Given the description of an element on the screen output the (x, y) to click on. 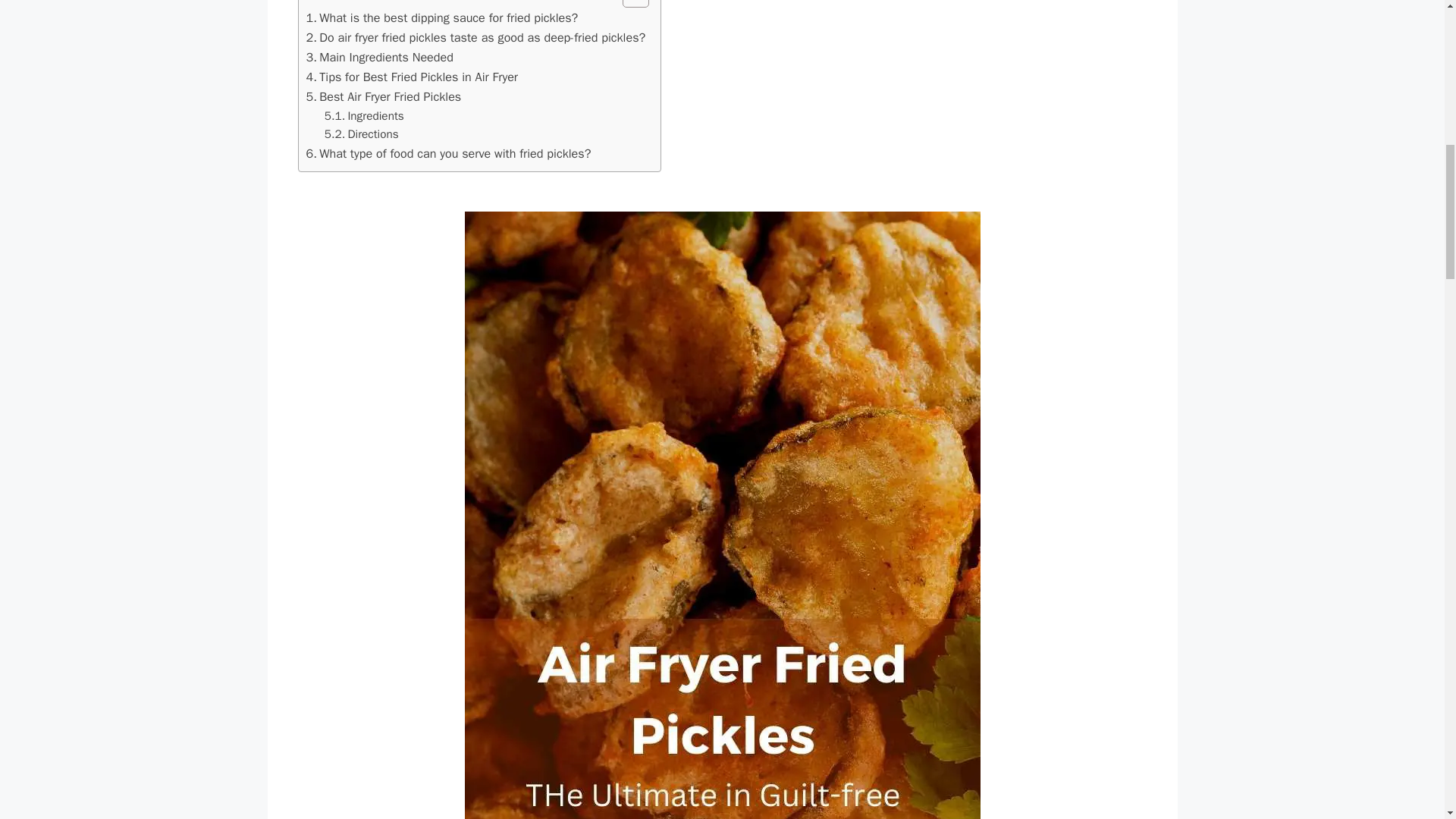
Main Ingredients Needed (378, 57)
Directions (361, 134)
Ingredients (364, 116)
What is the best dipping sauce for fried pickles? (441, 17)
Tips for Best Fried Pickles in Air Fryer (411, 76)
What type of food can you serve with fried pickles? (448, 153)
Main Ingredients Needed (378, 57)
Tips for Best Fried Pickles in Air Fryer (411, 76)
Best Air Fryer Fried Pickles (383, 96)
